Given the description of an element on the screen output the (x, y) to click on. 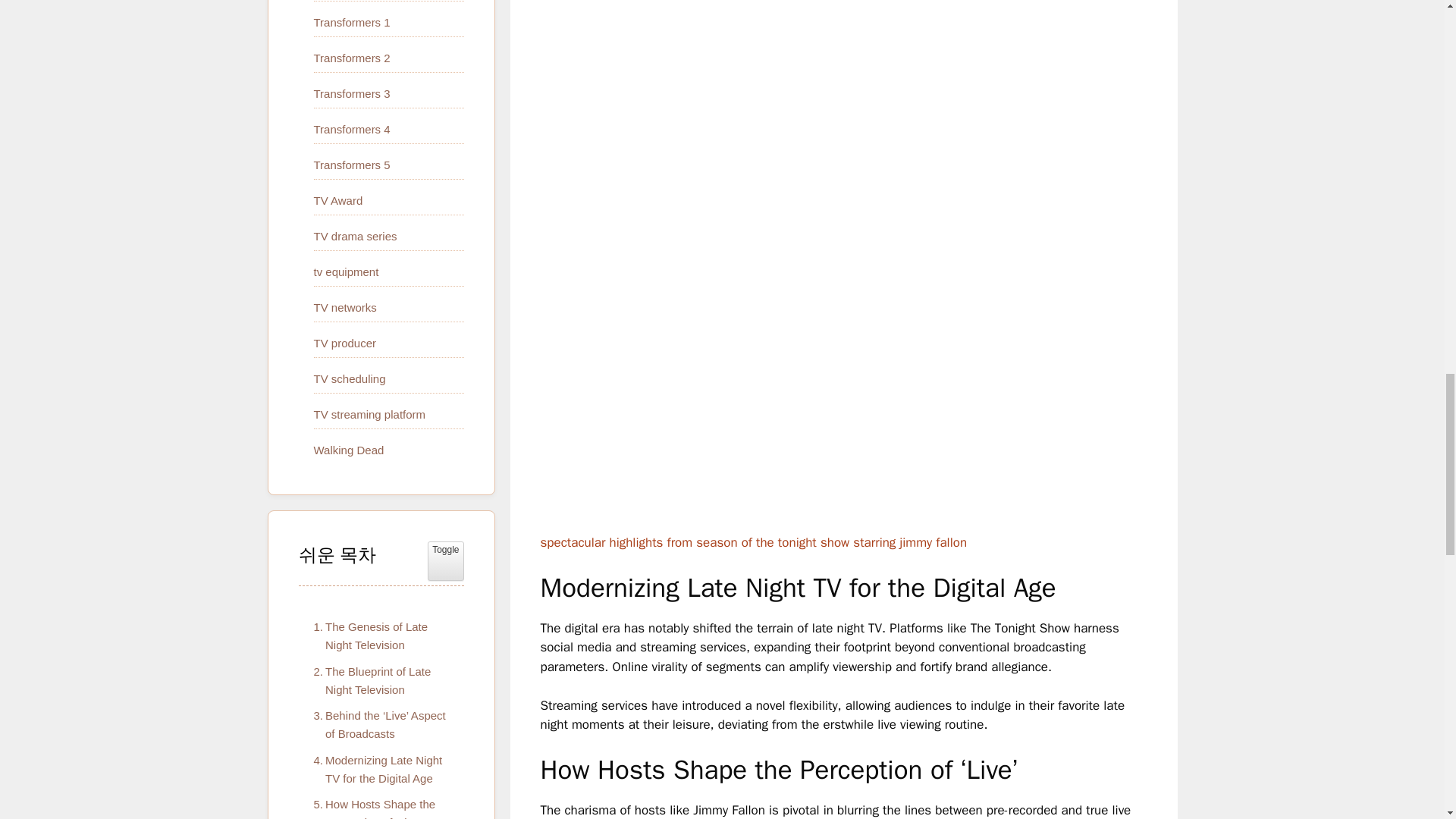
The Blueprint of Late Night Television (381, 680)
Modernizing Late Night TV for the Digital Age (381, 769)
The Genesis of Late Night Television (381, 636)
